Given the description of an element on the screen output the (x, y) to click on. 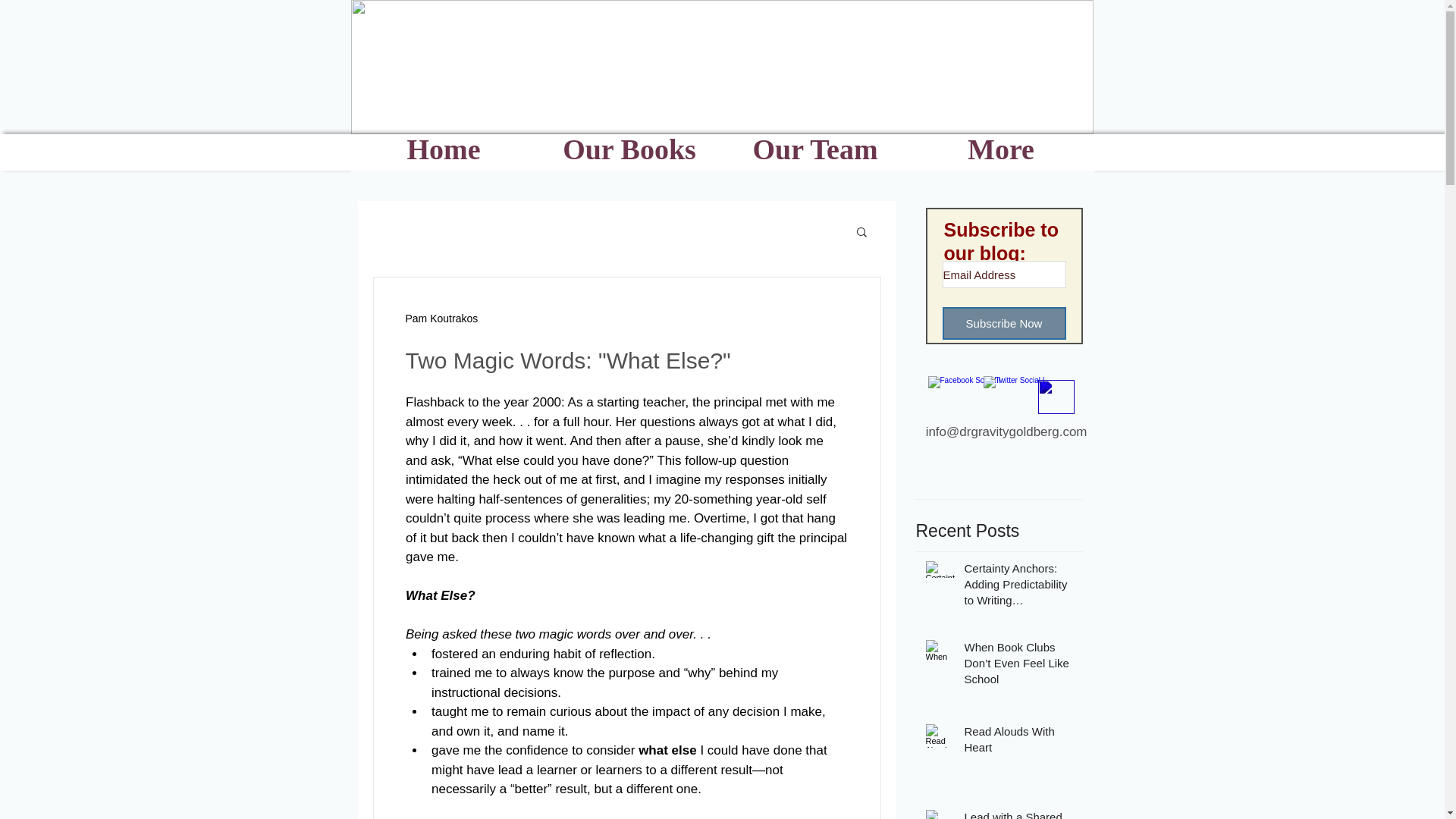
Lead with a Shared Sense of Direction (1018, 814)
Home (442, 154)
Gravity Goldberg LLC Website Banner.jpg (721, 67)
Read Alouds With Heart (1018, 742)
Our Books (629, 154)
Pam Koutrakos (440, 318)
Our Team (814, 154)
Subscribe Now (1003, 323)
